Given the description of an element on the screen output the (x, y) to click on. 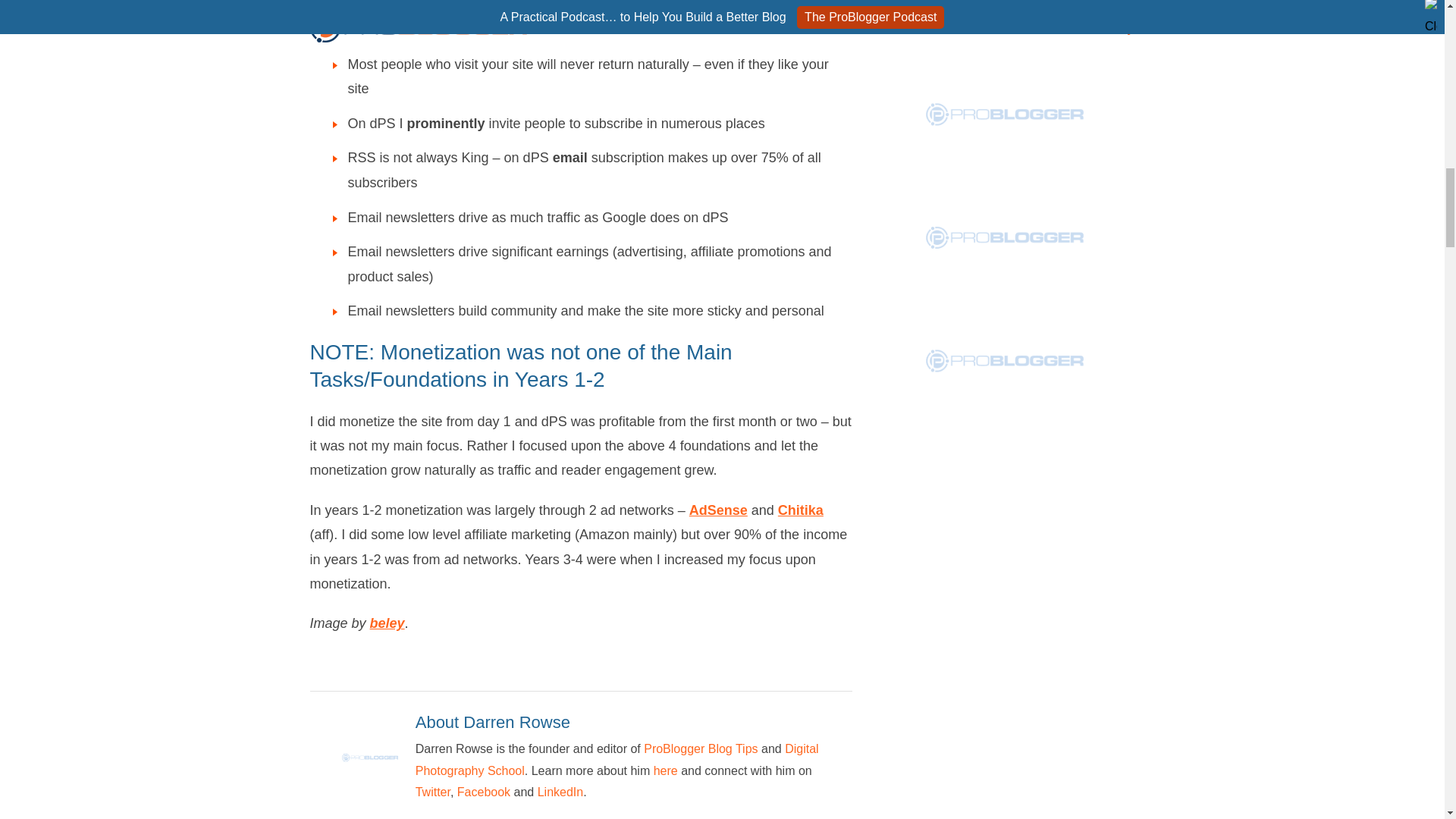
Digital Photography School (616, 759)
ProBlogger Blog Tips (700, 748)
beley (386, 622)
Chitika (800, 509)
AdSense (718, 509)
